Given the description of an element on the screen output the (x, y) to click on. 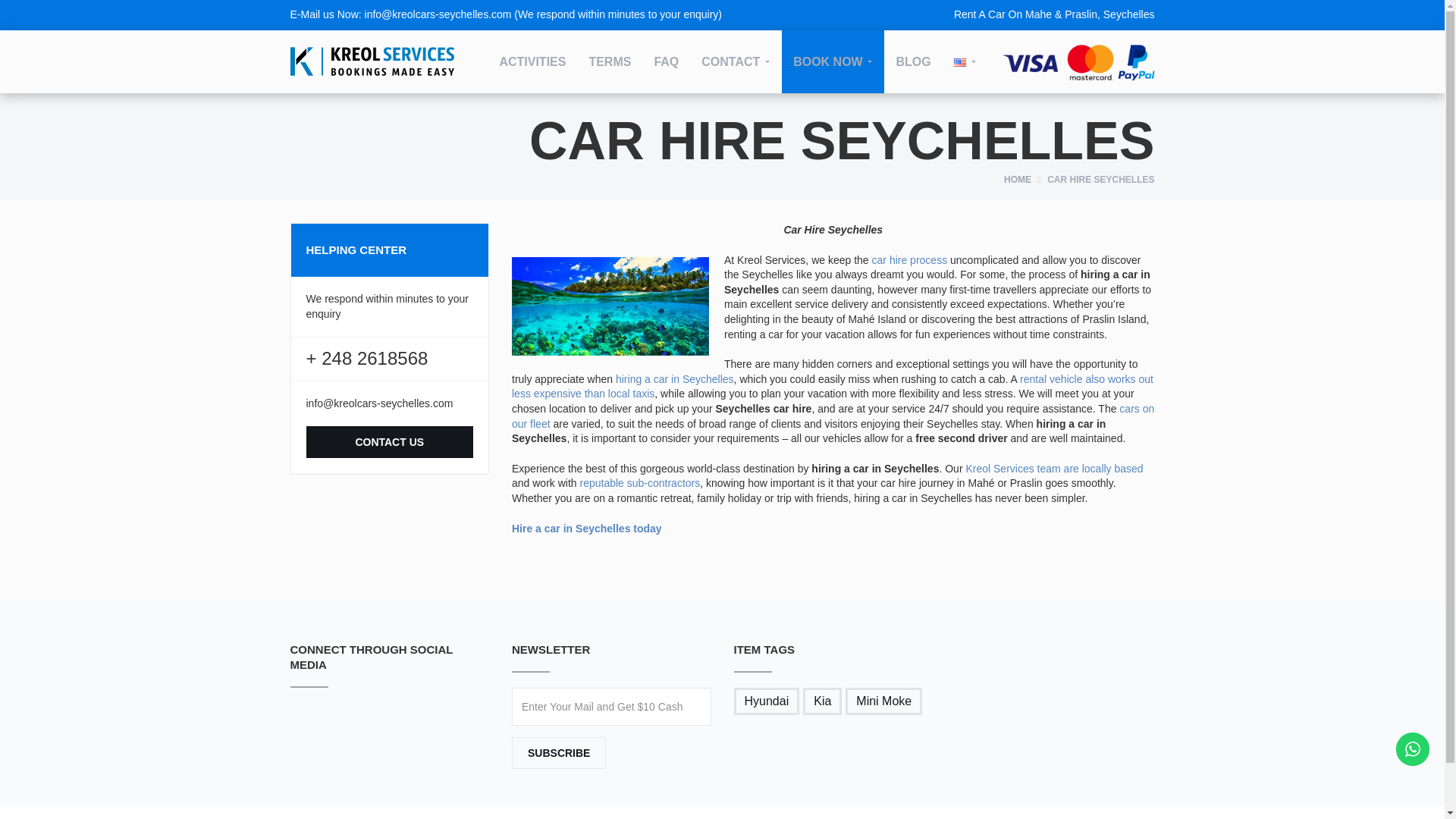
CONTACT US (389, 441)
cars on our fleet (833, 415)
Hyundai (766, 700)
TERMS (609, 62)
CONTACT (735, 62)
reputable sub-contractors (639, 482)
SUBSCRIBE (558, 753)
Mini Moke (883, 700)
FAQ (666, 62)
hiring a car in Seychelles (674, 378)
Kia (822, 700)
ACTIVITIES (531, 62)
Hire a car in Seychelles today (587, 528)
Kreol Services team are locally based (1053, 468)
